Given the description of an element on the screen output the (x, y) to click on. 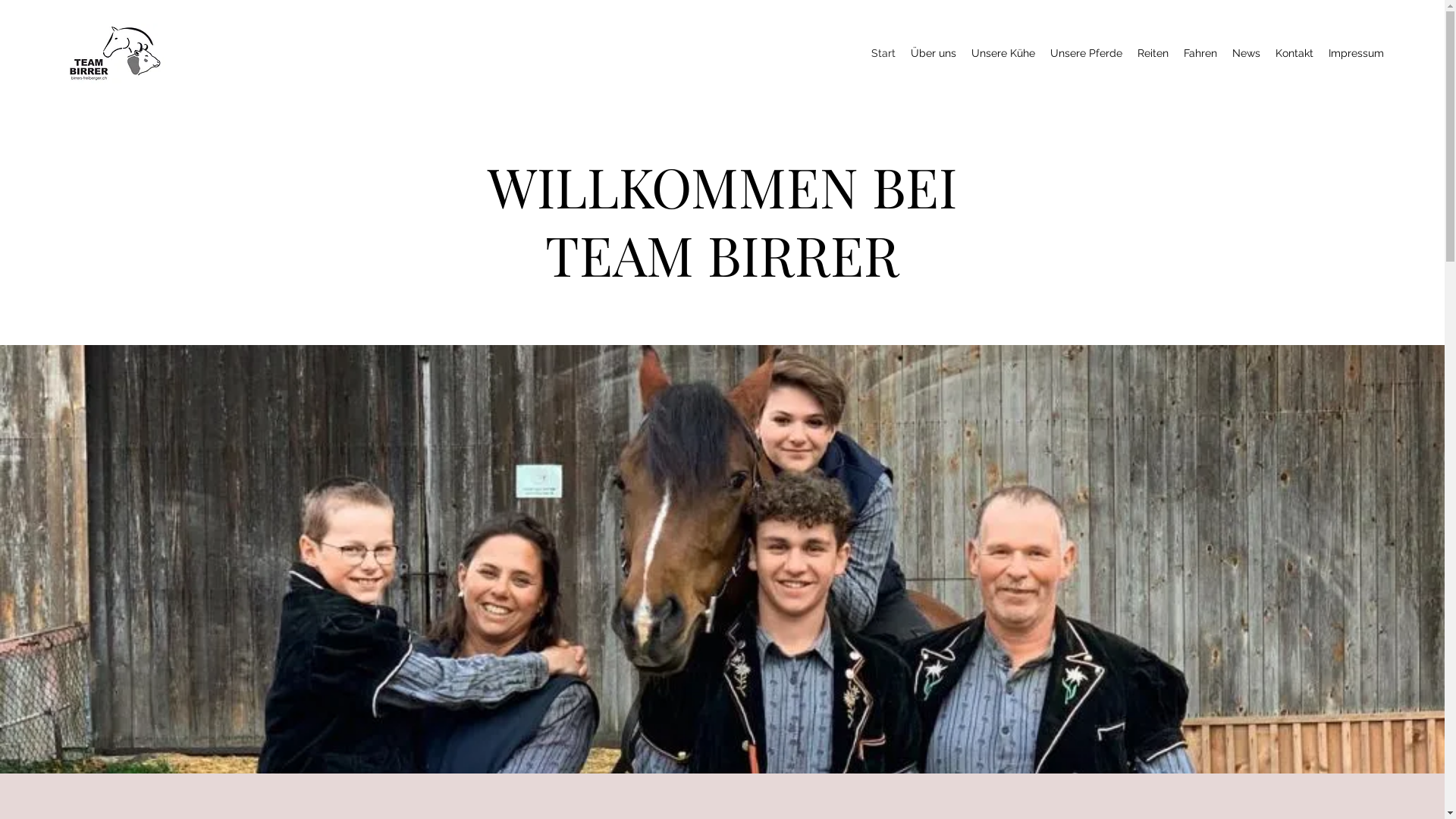
Kontakt Element type: text (1294, 52)
News Element type: text (1245, 52)
Unsere Pferde Element type: text (1085, 52)
Start Element type: text (883, 52)
Impressum Element type: text (1356, 52)
Fahren Element type: text (1200, 52)
Reiten Element type: text (1152, 52)
